Given the description of an element on the screen output the (x, y) to click on. 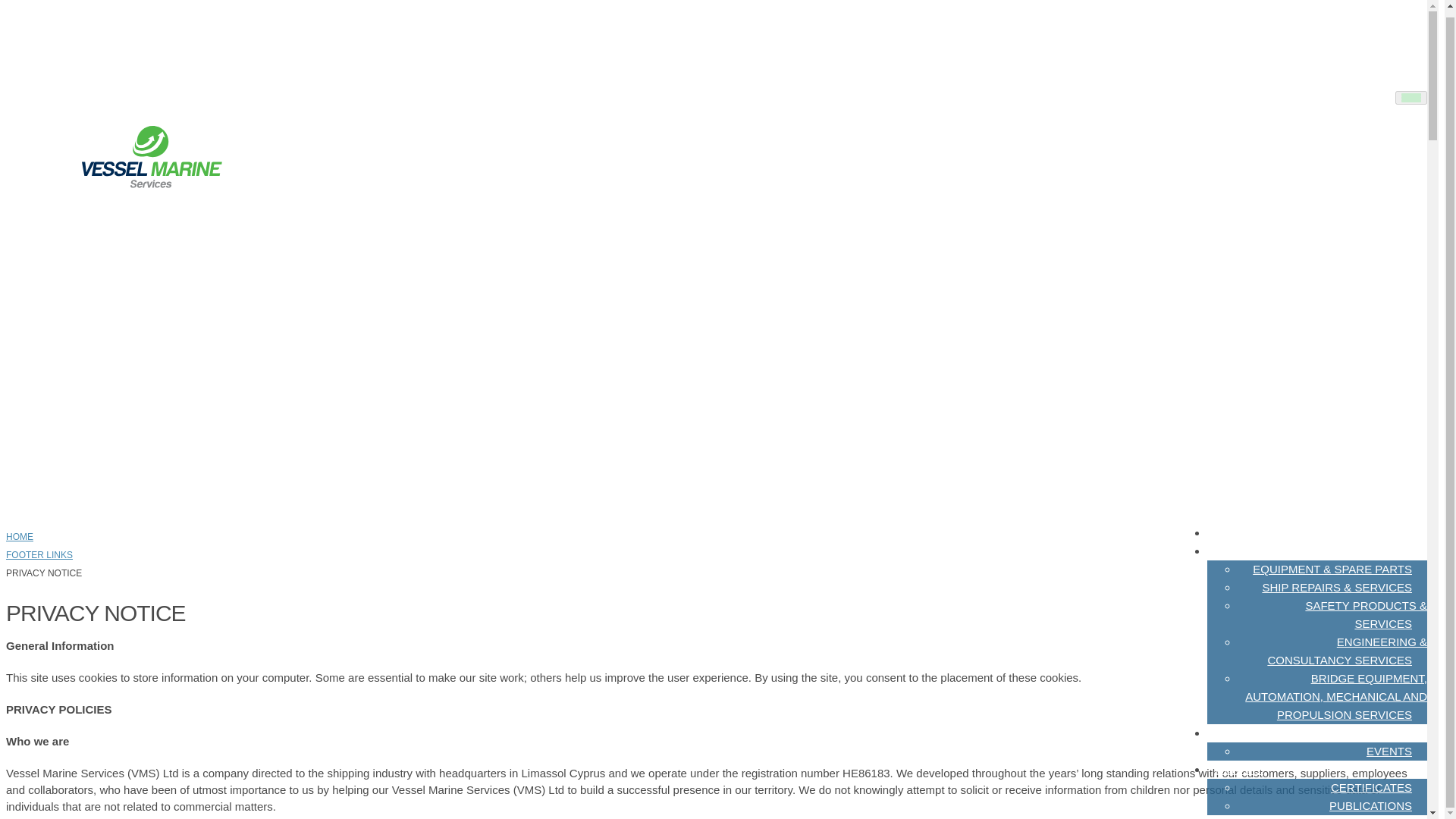
LIBRARY (1239, 769)
NEWSROOM (1249, 732)
PUBLICATIONS (1370, 805)
EVENTS (1388, 751)
ABOUT (1234, 532)
About (1234, 532)
CONTACT (1241, 810)
Toggle navigation (1410, 97)
CERTIFICATES (1371, 787)
